Given the description of an element on the screen output the (x, y) to click on. 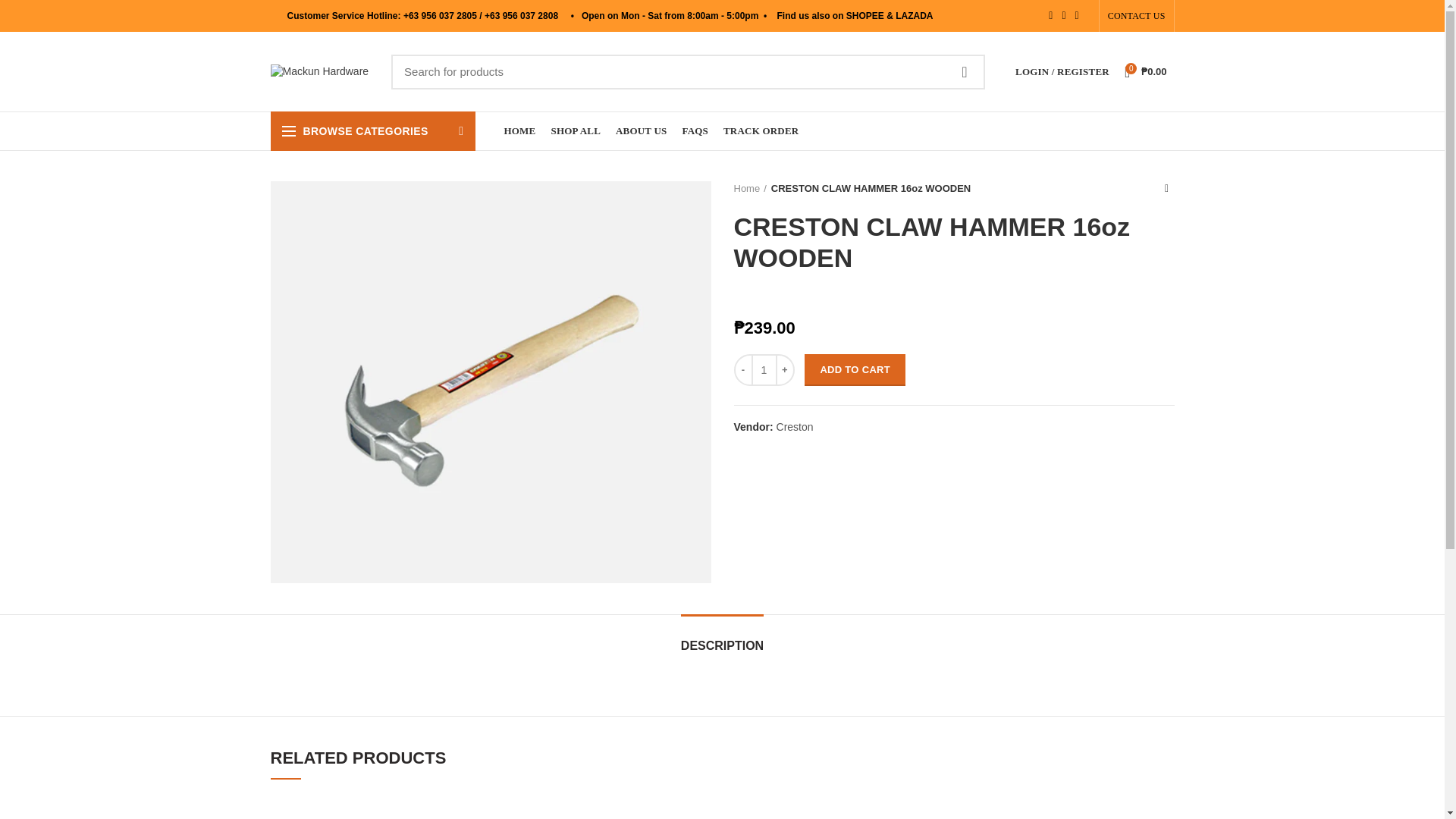
CONTACT US (1136, 15)
SEARCH (964, 71)
Back to the frontpage (750, 188)
